Given the description of an element on the screen output the (x, y) to click on. 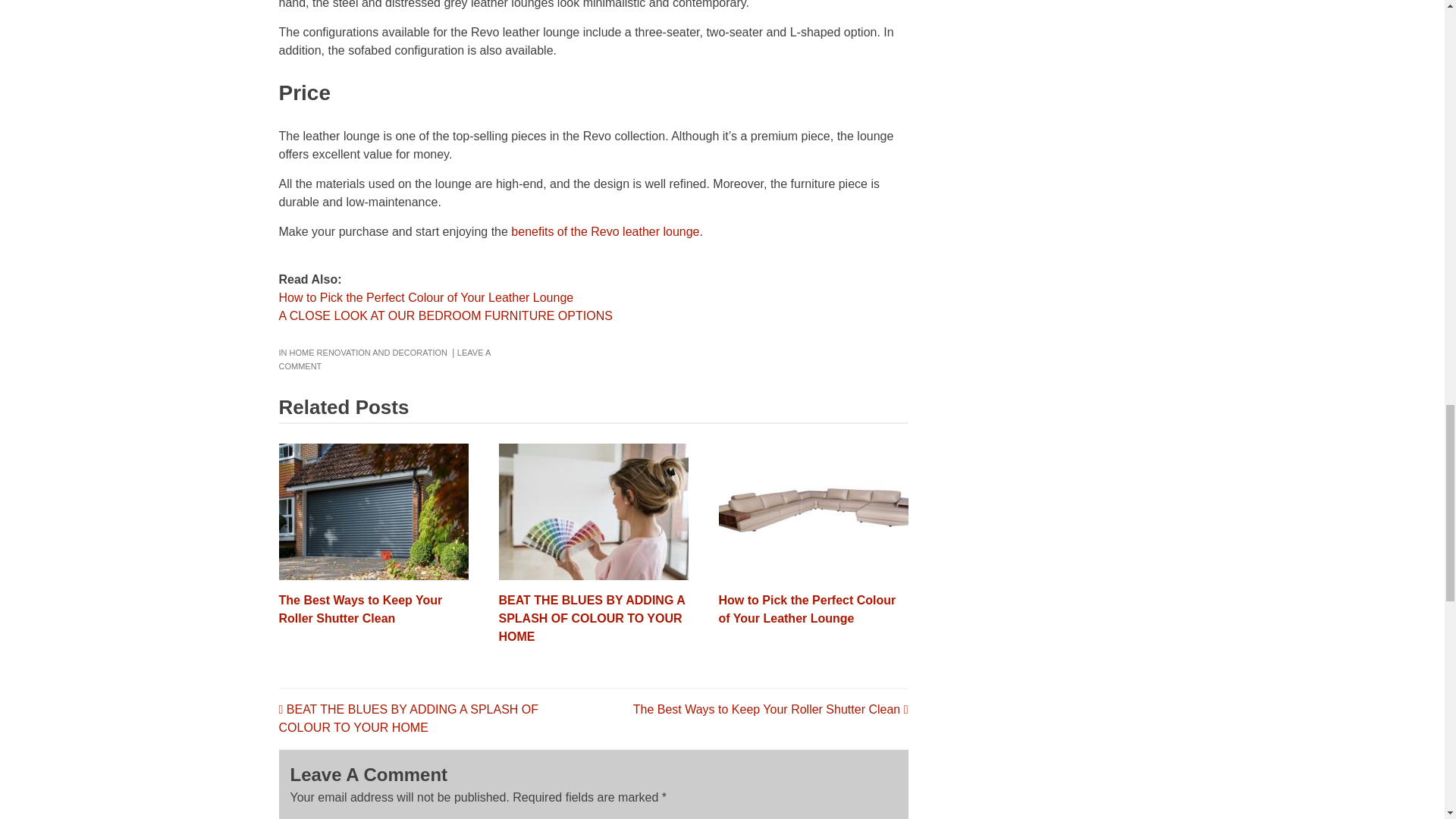
BEAT THE BLUES BY ADDING A SPLASH OF COLOUR TO YOUR HOME (592, 617)
benefits of the Revo leather lounge (604, 231)
BEAT THE BLUES BY ADDING A SPLASH OF COLOUR TO YOUR HOME (408, 717)
The Best Ways to Keep Your Roller Shutter Clean (360, 608)
How to Pick the Perfect Colour of Your Leather Lounge (807, 608)
LEAVE A COMMENT  (384, 359)
How to Pick the Perfect Colour of Your Leather Lounge (426, 297)
HOME RENOVATION AND DECORATION (367, 352)
The Best Ways to Keep Your Roller Shutter Clean (770, 708)
A CLOSE LOOK AT OUR BEDROOM FURNITURE OPTIONS (445, 315)
